Given the description of an element on the screen output the (x, y) to click on. 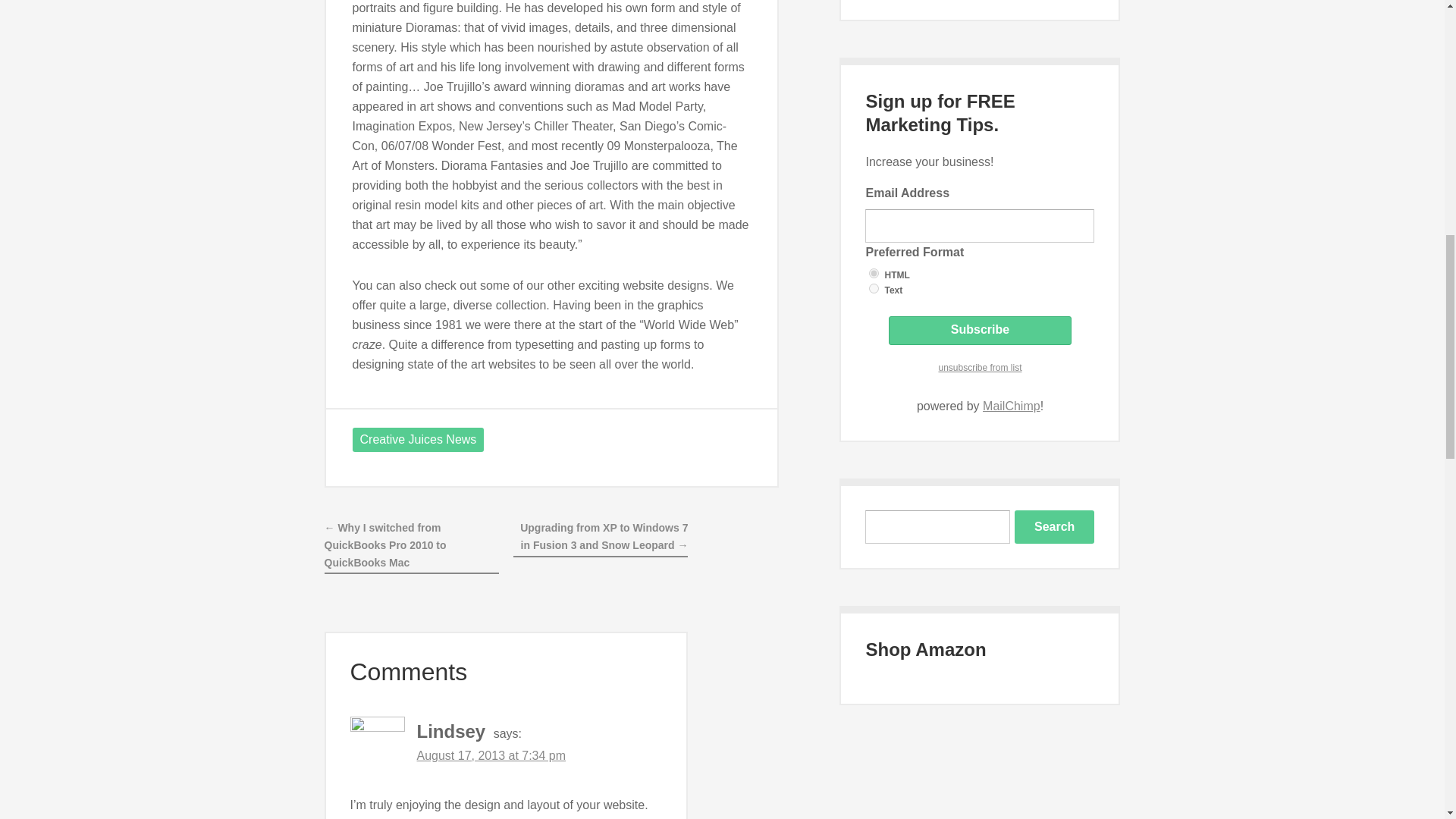
text (874, 288)
Search (1054, 526)
html (874, 273)
Subscribe (979, 330)
Subscribe (979, 330)
August 17, 2013 at 7:34 pm (491, 755)
Creative Juices News (417, 439)
